Given the description of an element on the screen output the (x, y) to click on. 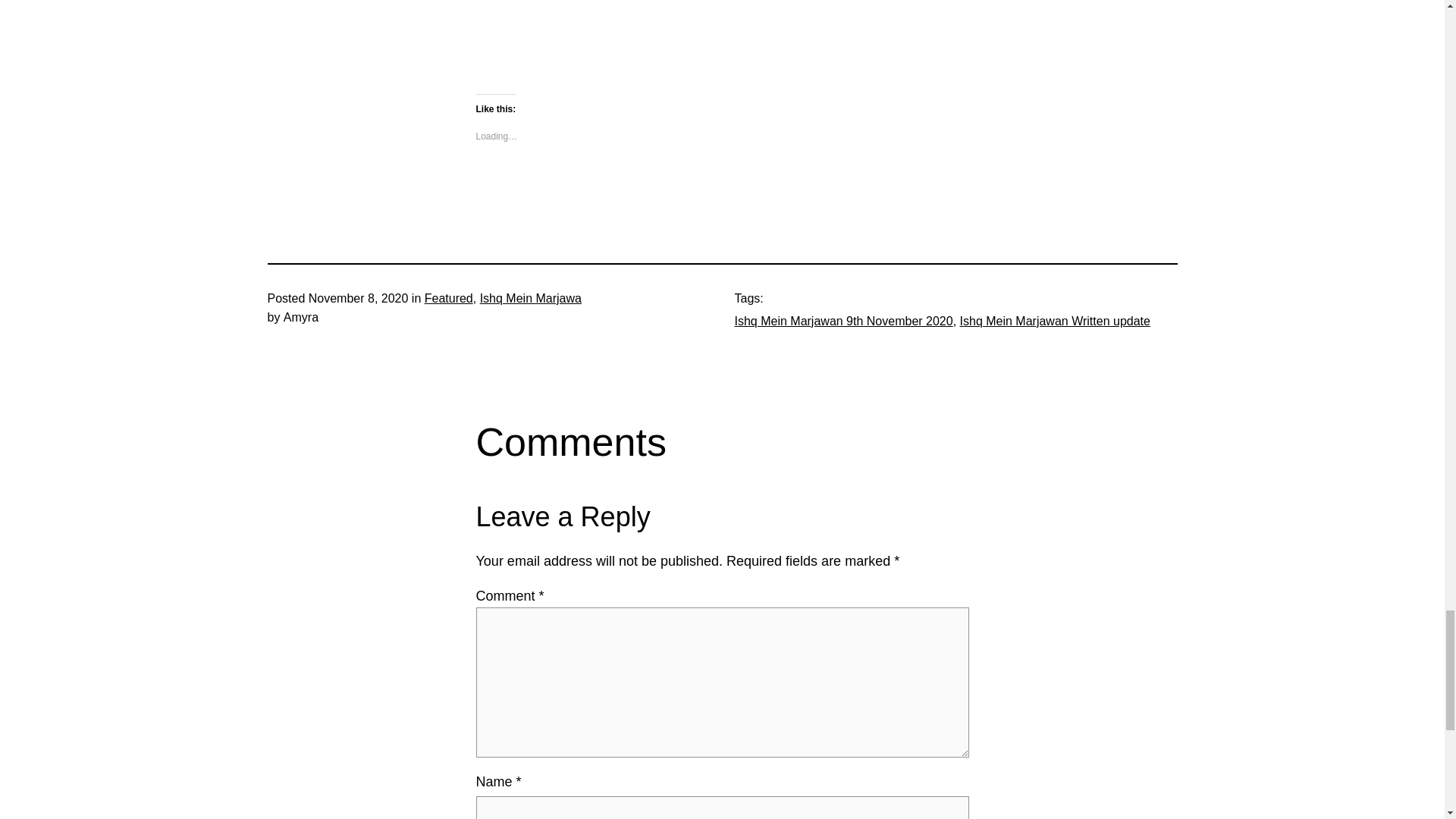
Ishq Mein Marjawan Full episode today 9th November 2020 (666, 34)
Featured (449, 297)
Ishq Mein Marjawan Written update (1054, 320)
Ishq Mein Marjawan 9th November 2020 (842, 320)
Ishq Mein Marjawa (530, 297)
